Given the description of an element on the screen output the (x, y) to click on. 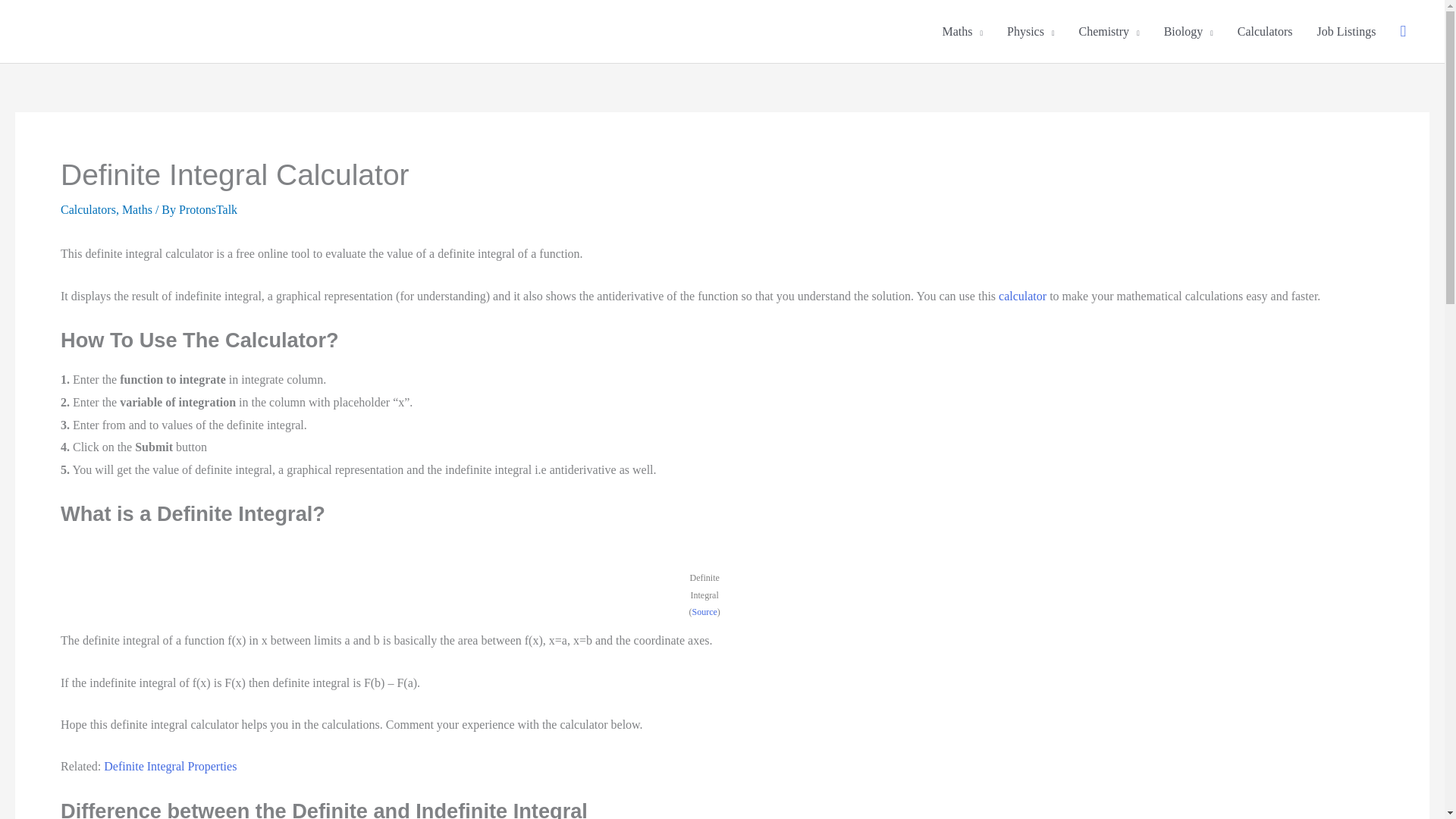
View all posts by ProtonsTalk (208, 209)
Physics (1029, 31)
Maths (962, 31)
